Given the description of an element on the screen output the (x, y) to click on. 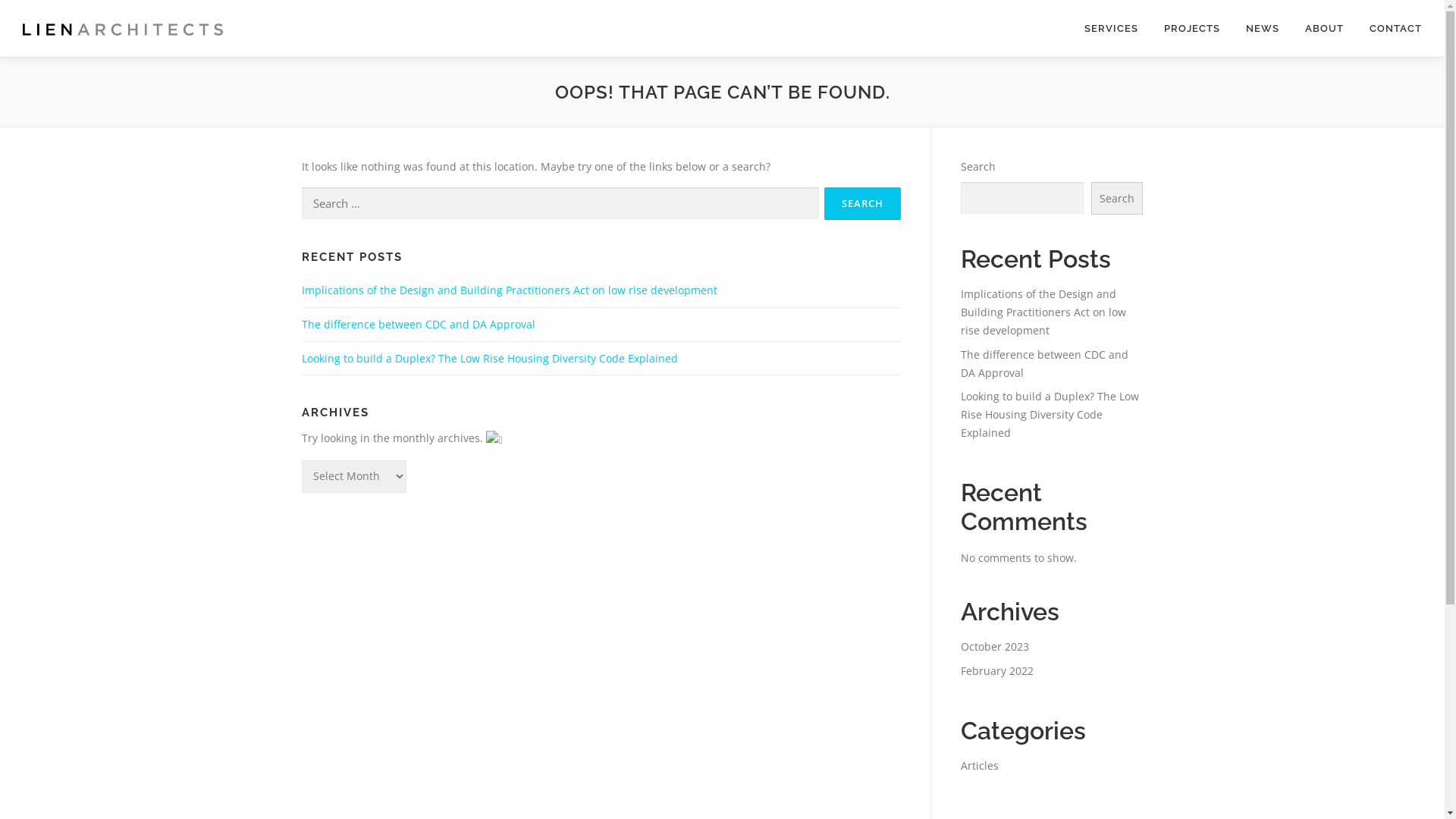
The difference between CDC and DA Approval Element type: text (1043, 363)
Search Element type: text (861, 203)
SERVICES Element type: text (1111, 28)
NEWS Element type: text (1262, 28)
The difference between CDC and DA Approval Element type: text (418, 323)
Articles Element type: text (978, 765)
ABOUT Element type: text (1324, 28)
CONTACT Element type: text (1388, 28)
Search Element type: text (1116, 198)
February 2022 Element type: text (996, 670)
October 2023 Element type: text (994, 646)
PROJECTS Element type: text (1192, 28)
